Given the description of an element on the screen output the (x, y) to click on. 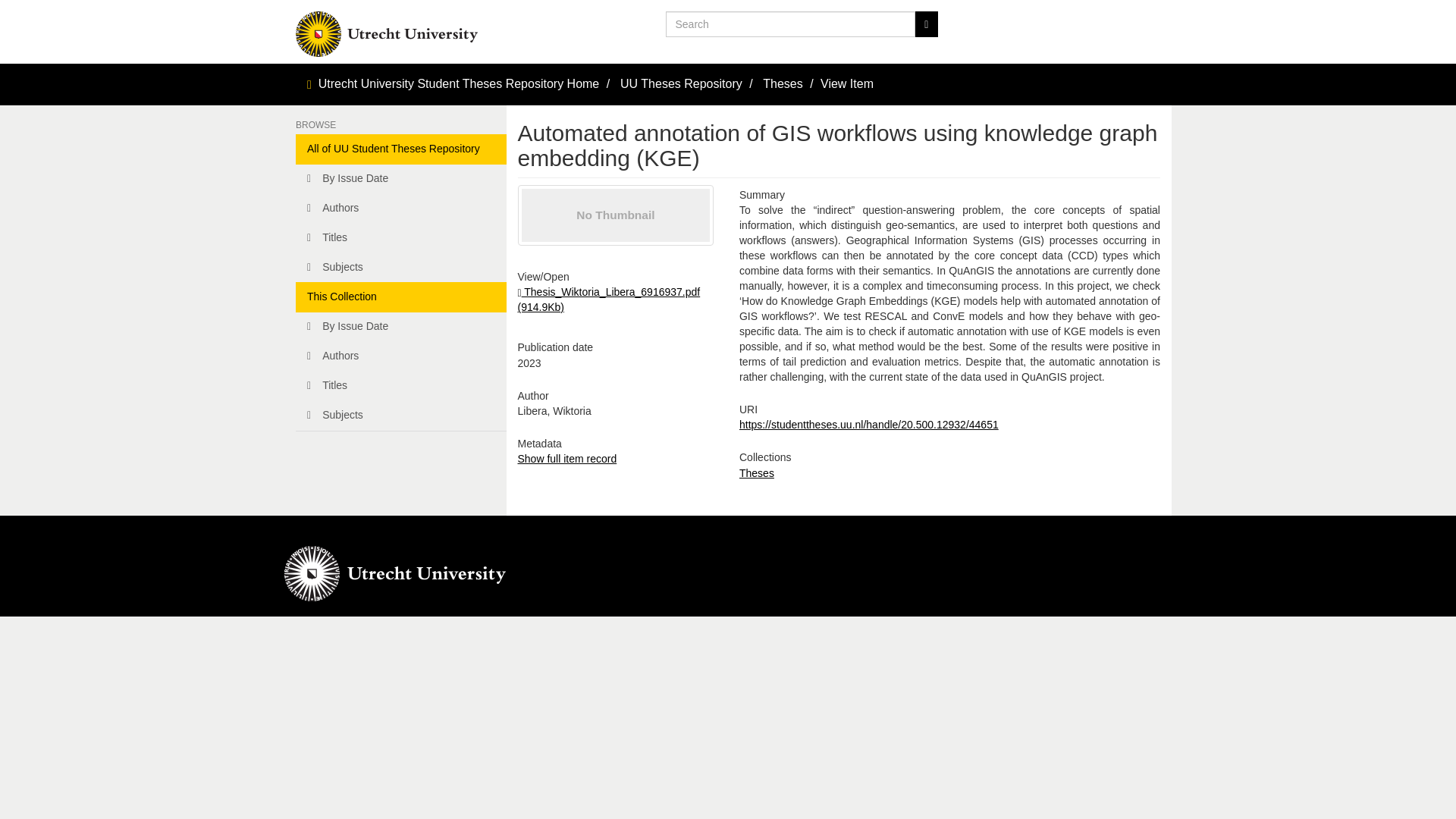
All of UU Student Theses Repository (400, 149)
Titles (400, 237)
Authors (400, 208)
Subjects (400, 415)
Go (925, 23)
Theses (782, 83)
UU Theses Repository (681, 83)
Titles (400, 386)
Theses (756, 472)
Utrecht University Student Theses Repository Home (458, 83)
This Collection (400, 296)
Subjects (400, 267)
Show full item record (565, 458)
By Issue Date (400, 327)
By Issue Date (400, 178)
